Given the description of an element on the screen output the (x, y) to click on. 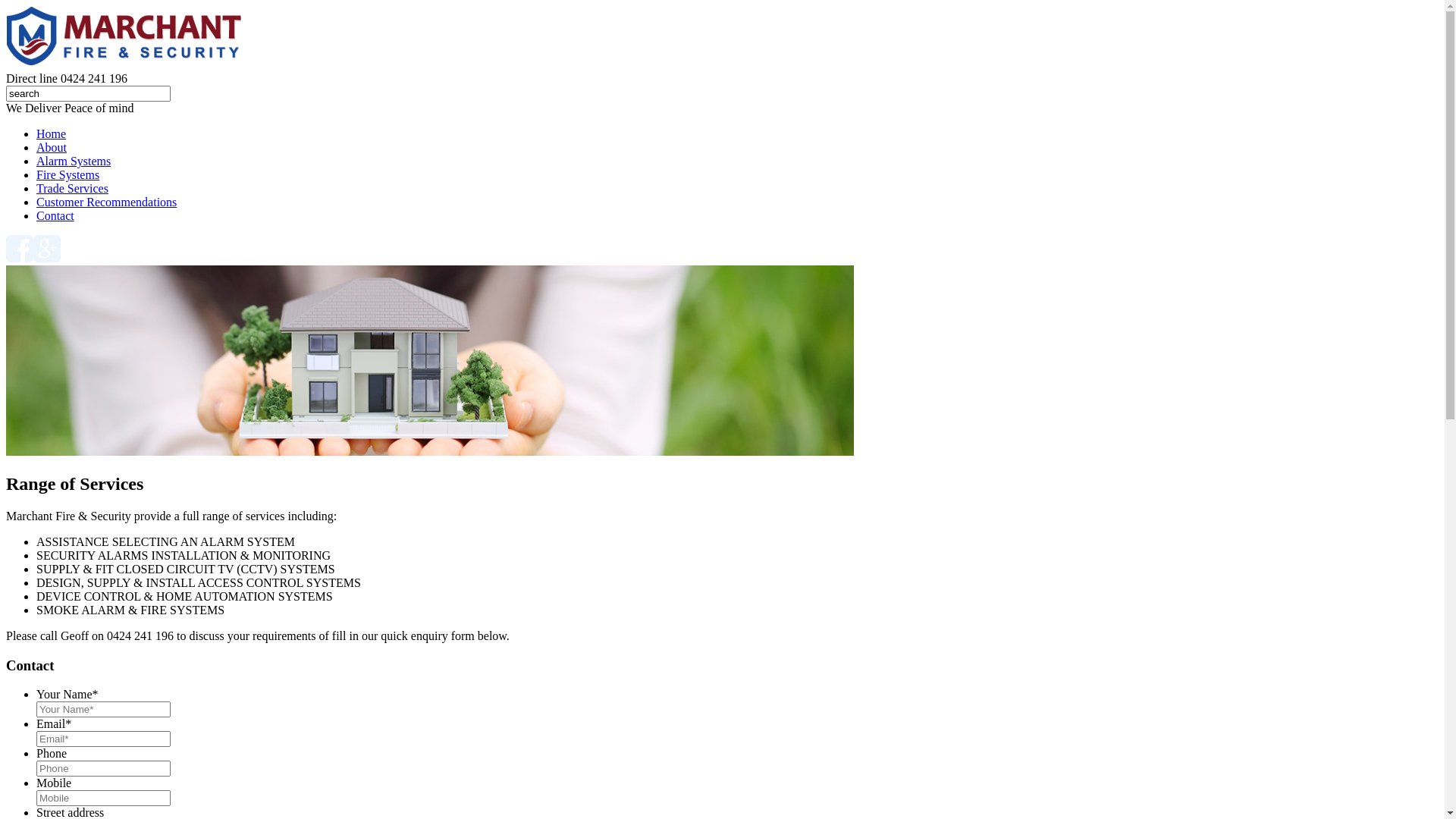
Home Element type: text (50, 133)
Customer Recommendations Element type: text (106, 201)
Fire Systems Element type: text (67, 174)
Contact Element type: text (55, 215)
About Element type: text (51, 147)
Trade Services Element type: text (72, 188)
Alarm Systems Element type: text (73, 160)
Marchant Fire & Security Element type: hover (125, 37)
google plus Element type: hover (46, 248)
facebook Element type: hover (19, 248)
